Given the description of an element on the screen output the (x, y) to click on. 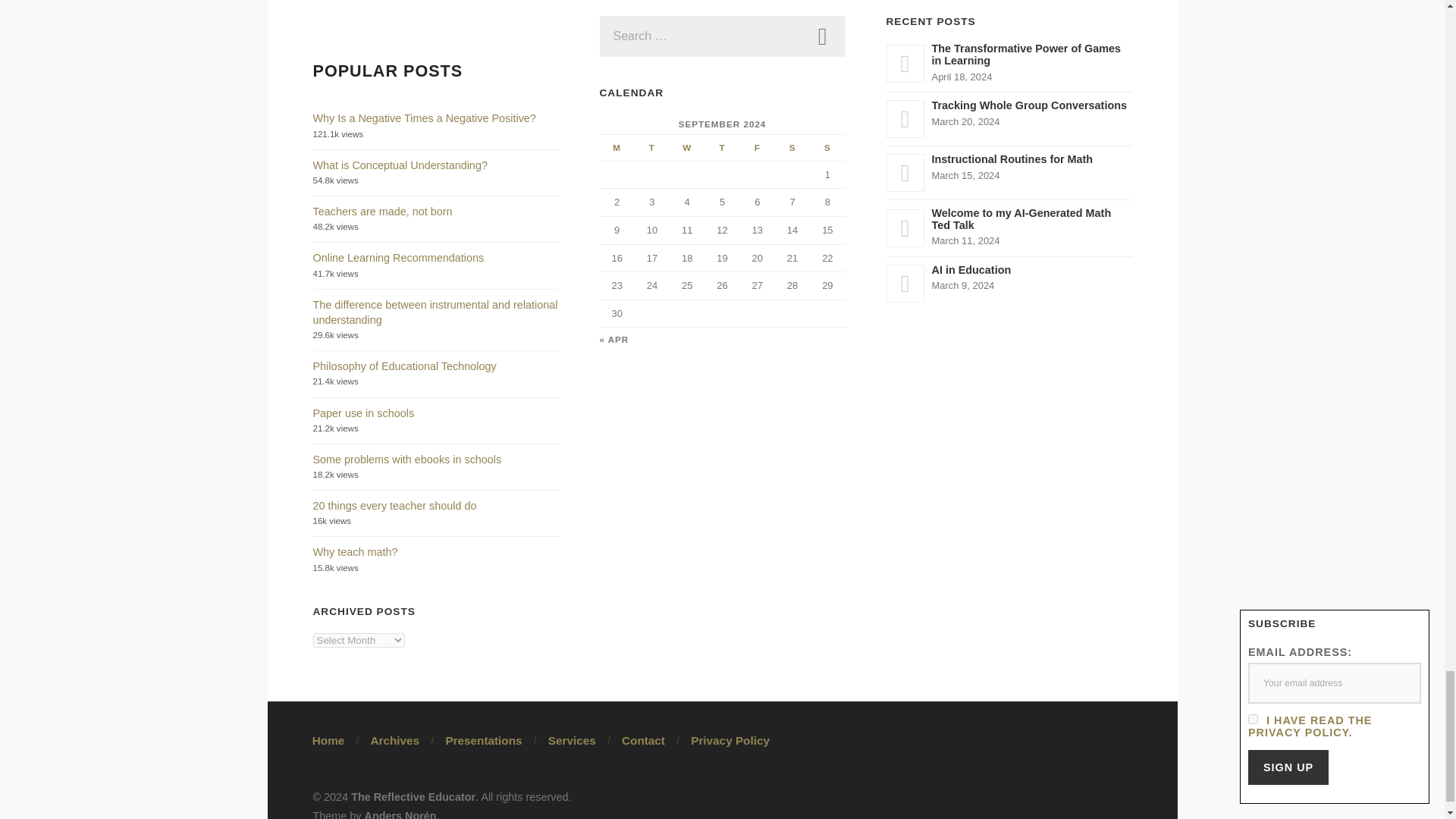
Why Is a Negative Times a Negative Positive? (424, 118)
Sunday (826, 147)
Search (821, 35)
Saturday (791, 147)
Friday (756, 147)
Tuesday (651, 147)
Wednesday (686, 147)
Search (821, 35)
Teachers are made, not born (382, 211)
What is Conceptual Understanding? (399, 164)
